Given the description of an element on the screen output the (x, y) to click on. 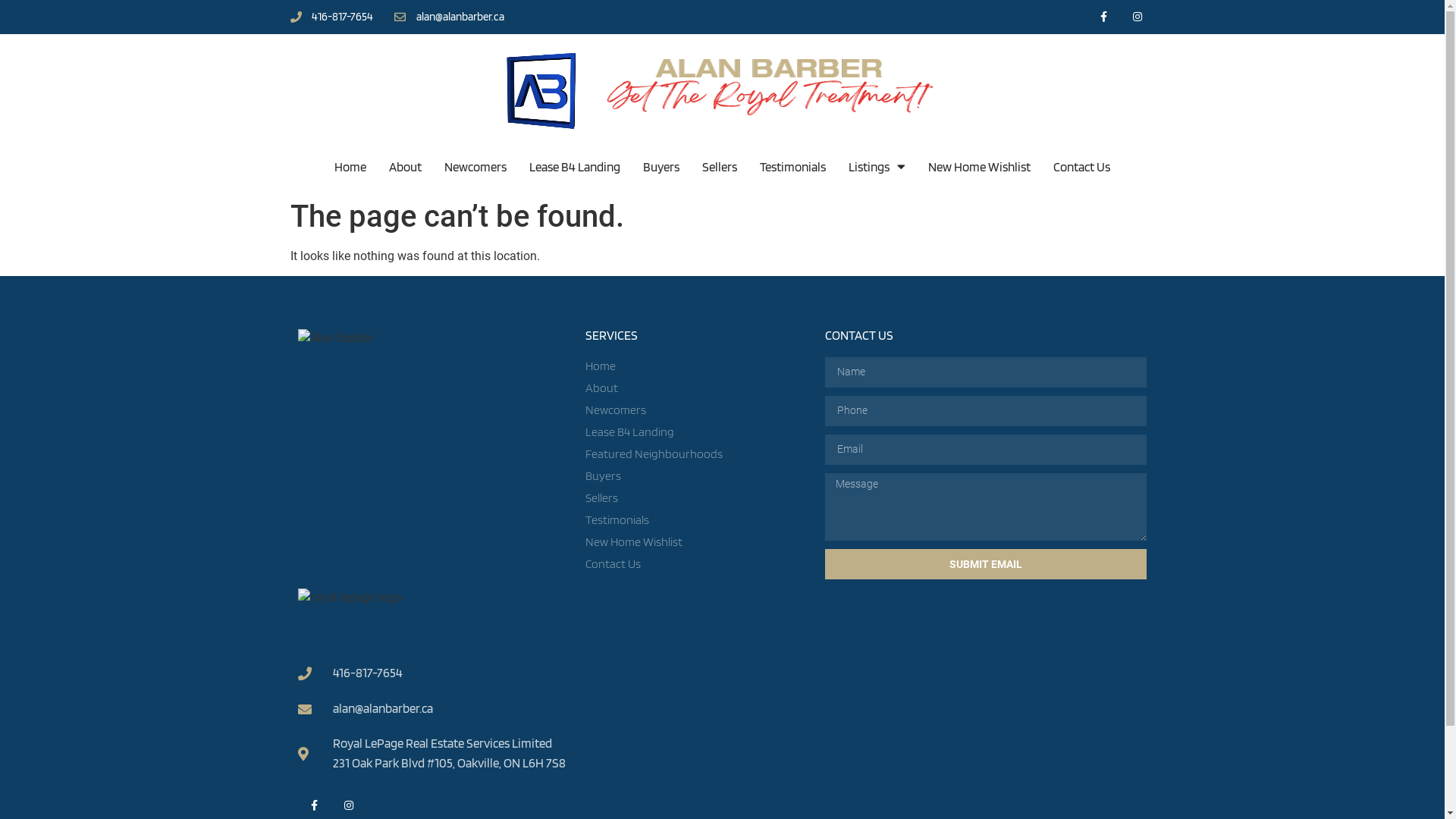
416-817-7654 Element type: text (331, 16)
Testimonials Element type: text (697, 520)
alan@alanbarber.ca Element type: text (433, 708)
Sellers Element type: text (697, 498)
alan@alanbarber.ca Element type: text (449, 16)
Lease B4 Landing Element type: text (697, 432)
Buyers Element type: text (697, 476)
Home Element type: text (350, 166)
SUBMIT EMAIL Element type: text (985, 564)
Listings Element type: text (876, 166)
Contact Us Element type: text (1081, 166)
New Home Wishlist Element type: text (978, 166)
Sellers Element type: text (719, 166)
Lease B4 Landing Element type: text (574, 166)
About Element type: text (697, 388)
Buyers Element type: text (660, 166)
Newcomers Element type: text (697, 410)
Home Element type: text (697, 366)
Testimonials Element type: text (792, 166)
About Element type: text (405, 166)
416-817-7654 Element type: text (433, 673)
New Home Wishlist Element type: text (697, 542)
Contact Us Element type: text (697, 564)
Newcomers Element type: text (475, 166)
